Given the description of an element on the screen output the (x, y) to click on. 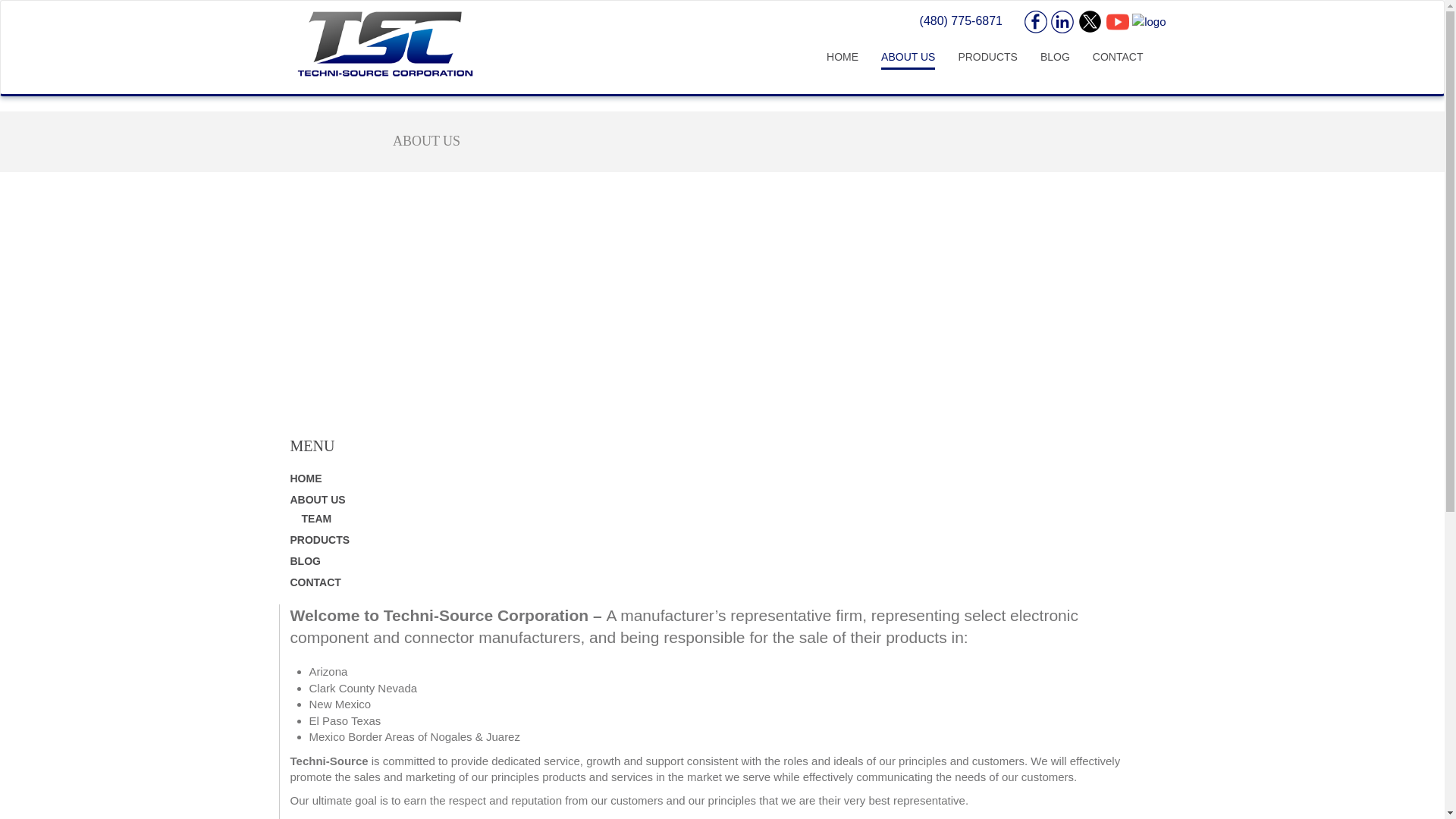
ABOUT US (907, 59)
HOME (842, 58)
CONTACT (1117, 58)
CONTACT (314, 582)
HOME (305, 478)
PRODUCTS (319, 539)
PRODUCTS (987, 58)
BLOG (304, 561)
BLOG (1055, 58)
ABOUT US (317, 499)
TEAM (316, 518)
